Given the description of an element on the screen output the (x, y) to click on. 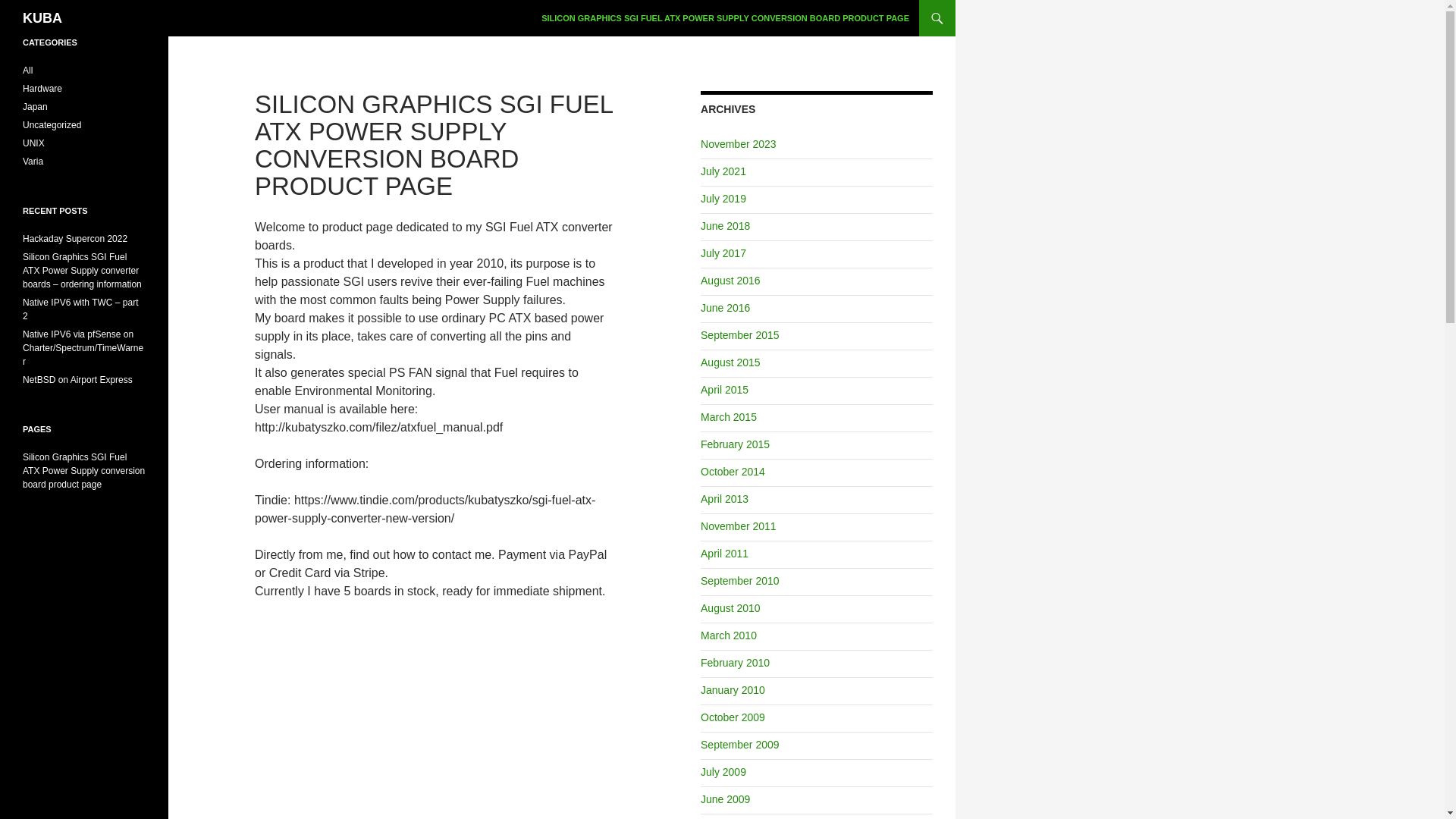
July 2021 (722, 171)
August 2015 (730, 362)
September 2010 (739, 580)
June 2018 (724, 225)
June 2009 (724, 799)
October 2014 (732, 471)
April 2015 (724, 389)
September 2009 (739, 744)
July 2019 (722, 198)
April 2013 (724, 499)
